Given the description of an element on the screen output the (x, y) to click on. 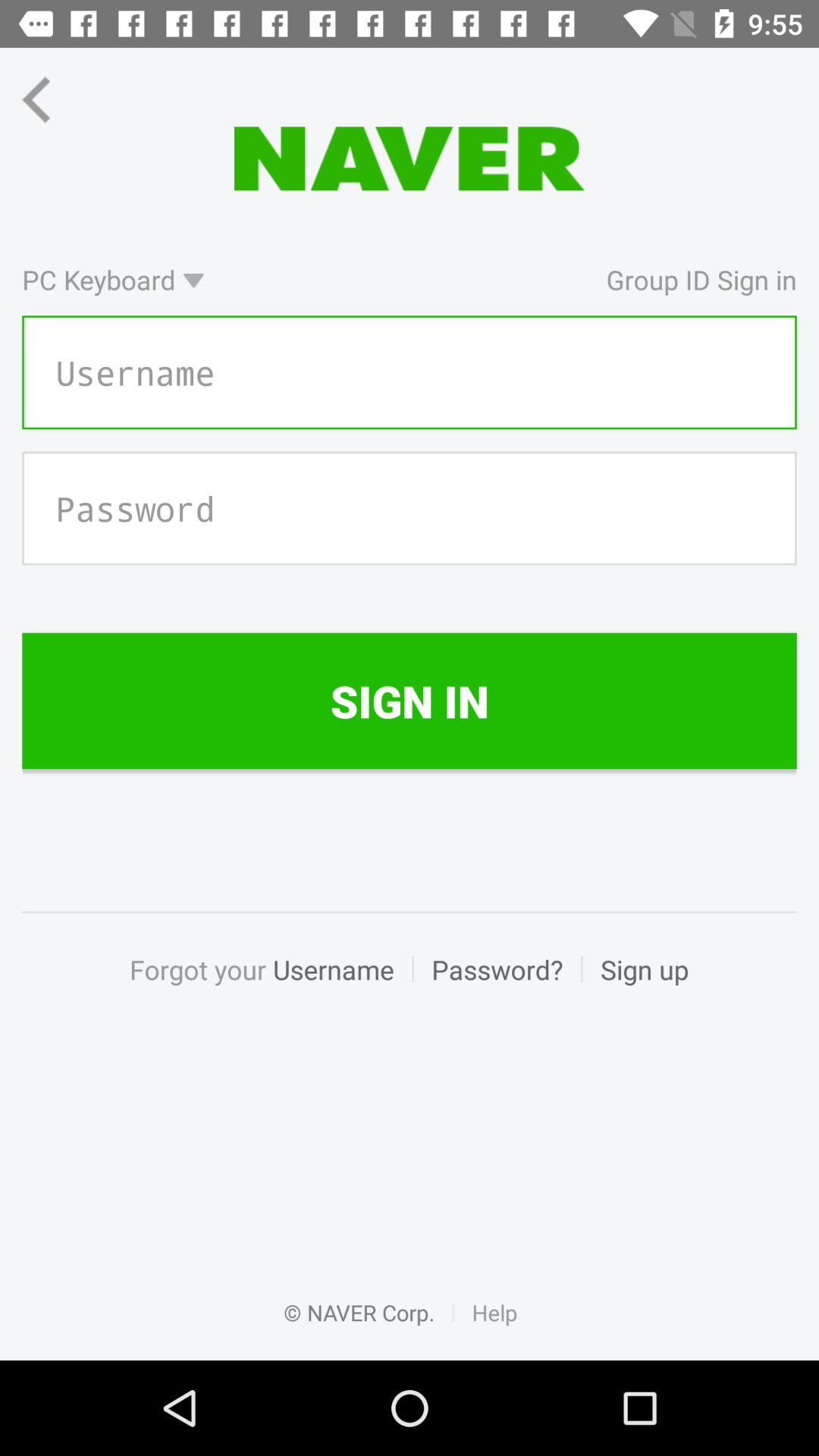
enters login name (409, 372)
